Given the description of an element on the screen output the (x, y) to click on. 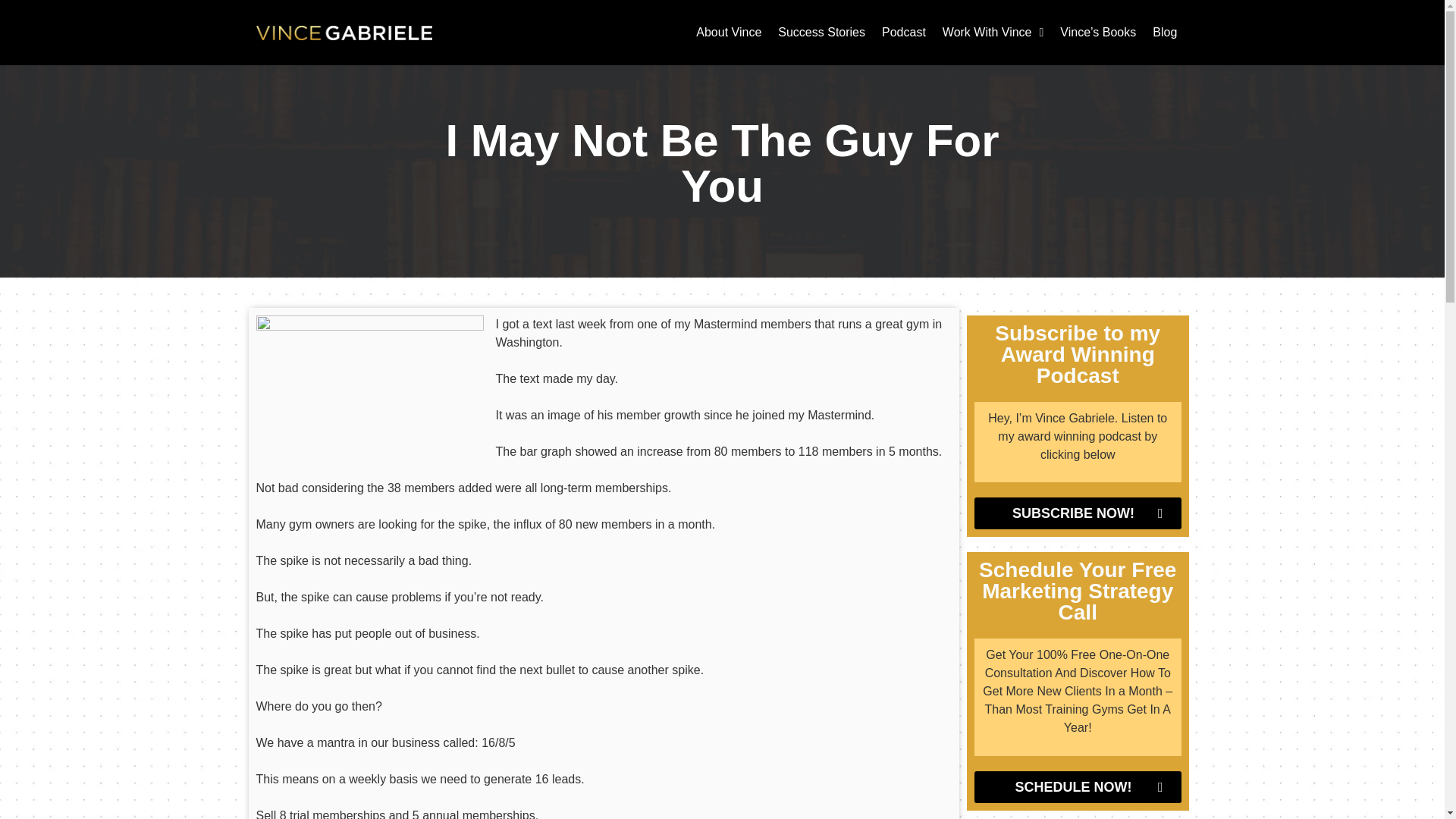
Work With Vince (993, 32)
About Vince (728, 32)
Success Stories (821, 32)
SUBSCRIBE NOW! (1077, 513)
Blog (1164, 32)
Podcast (903, 32)
SCHEDULE NOW! (1077, 787)
